Given the description of an element on the screen output the (x, y) to click on. 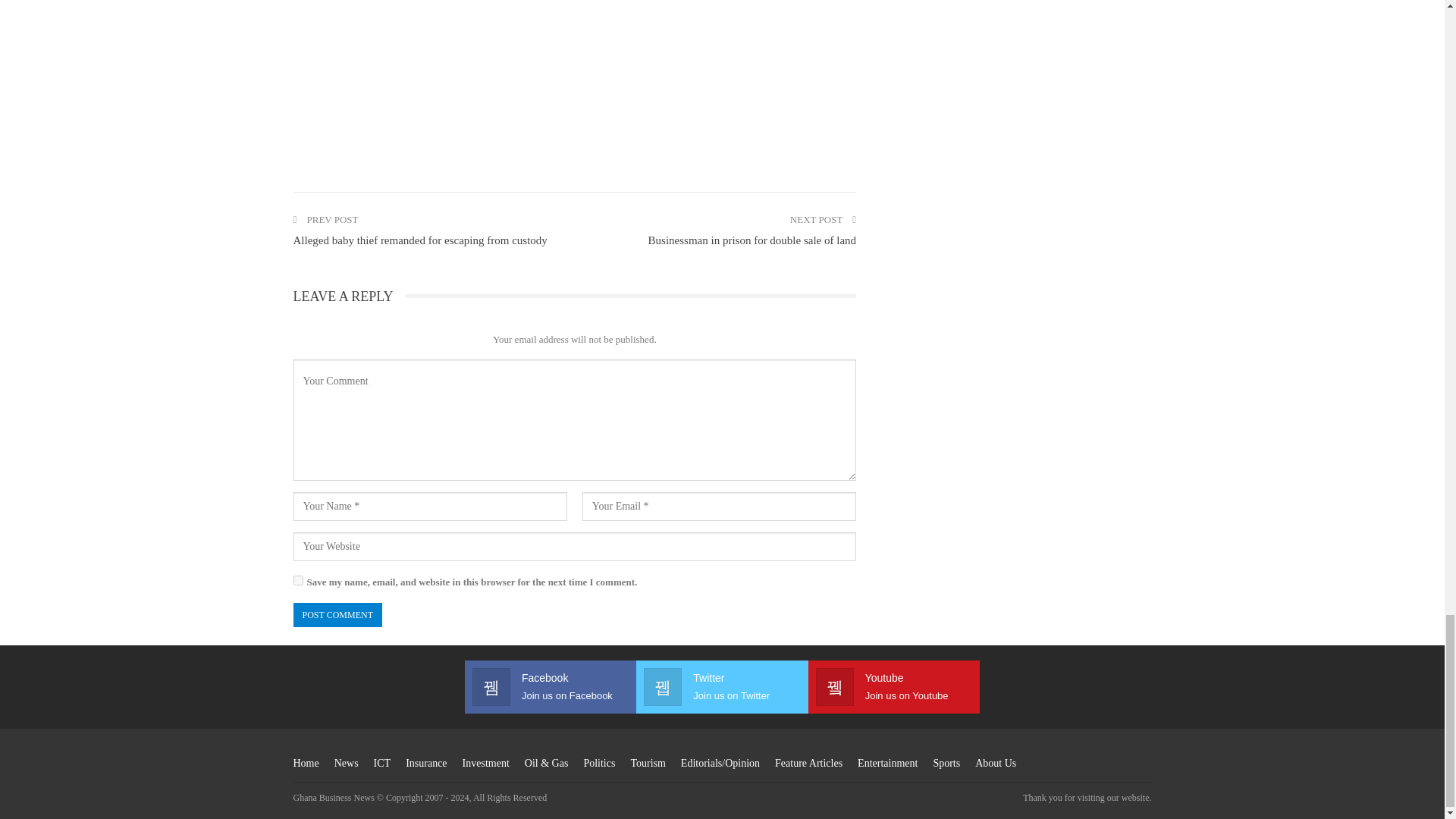
Businessman in prison for double sale of land (752, 240)
Alleged baby thief remanded for escaping from custody (419, 240)
Post Comment (336, 614)
yes (297, 580)
Post Comment (336, 614)
